Given the description of an element on the screen output the (x, y) to click on. 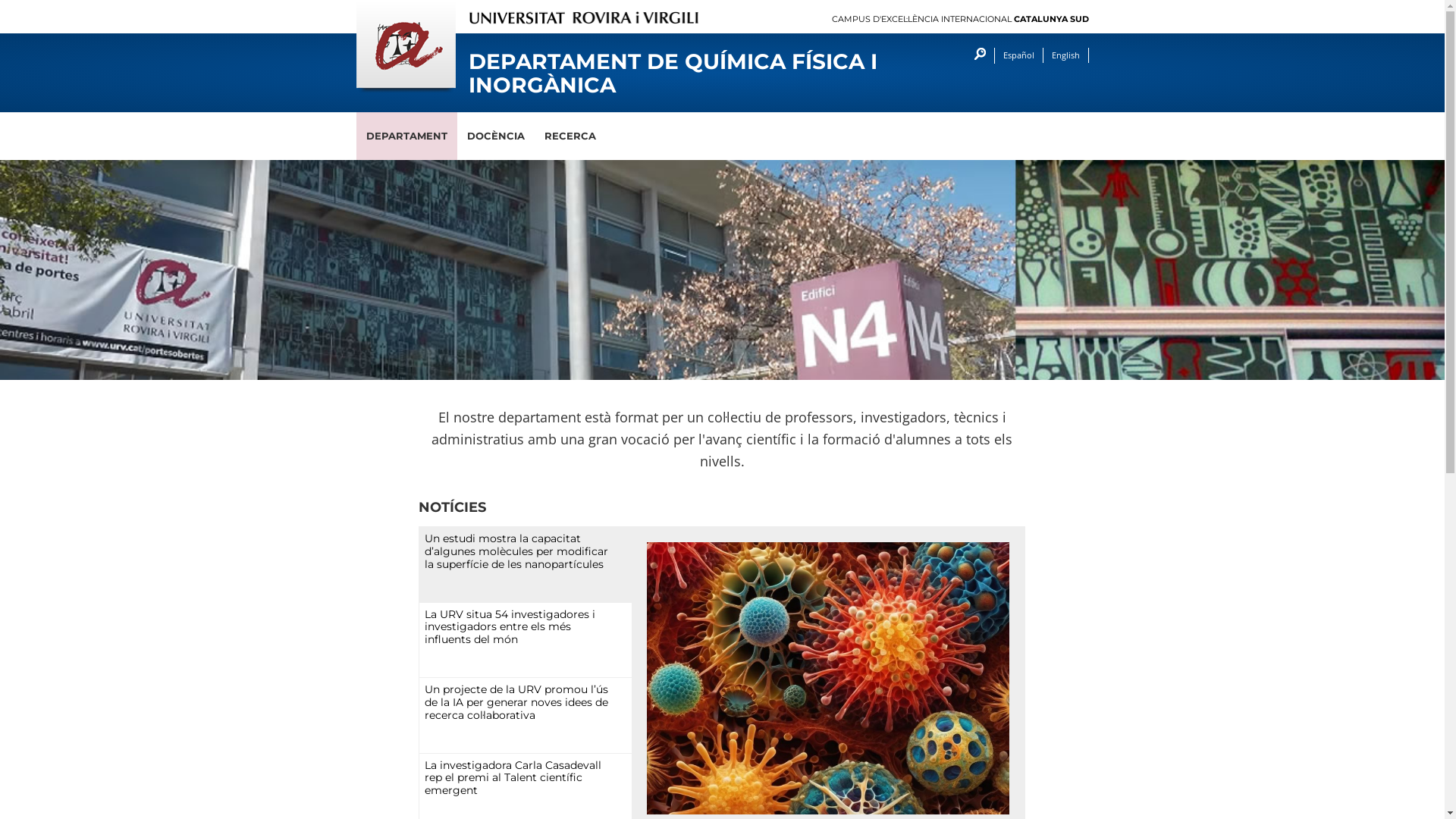
Cercar Element type: text (975, 55)
English Element type: text (1065, 54)
RECERCA Element type: text (569, 136)
DEPARTAMENT Element type: text (406, 136)
